Given the description of an element on the screen output the (x, y) to click on. 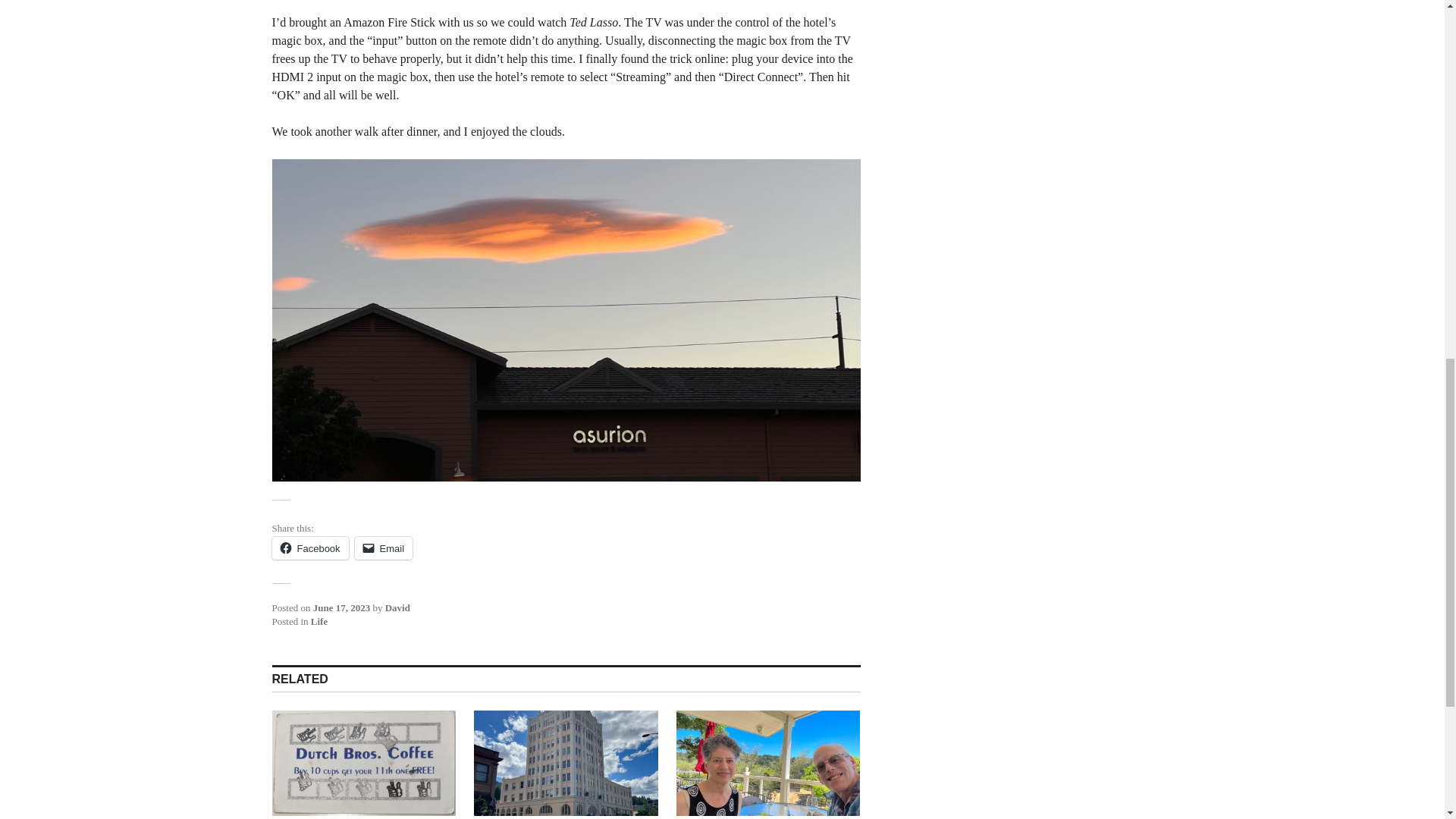
Facebook (308, 548)
Click to email a link to a friend (384, 548)
June 17, 2023 (341, 607)
The same, but different (566, 762)
The curtain goes down (362, 762)
The early bird gets the wine (768, 762)
Email (384, 548)
Click to share on Facebook (308, 548)
David (397, 607)
Life (319, 621)
